Given the description of an element on the screen output the (x, y) to click on. 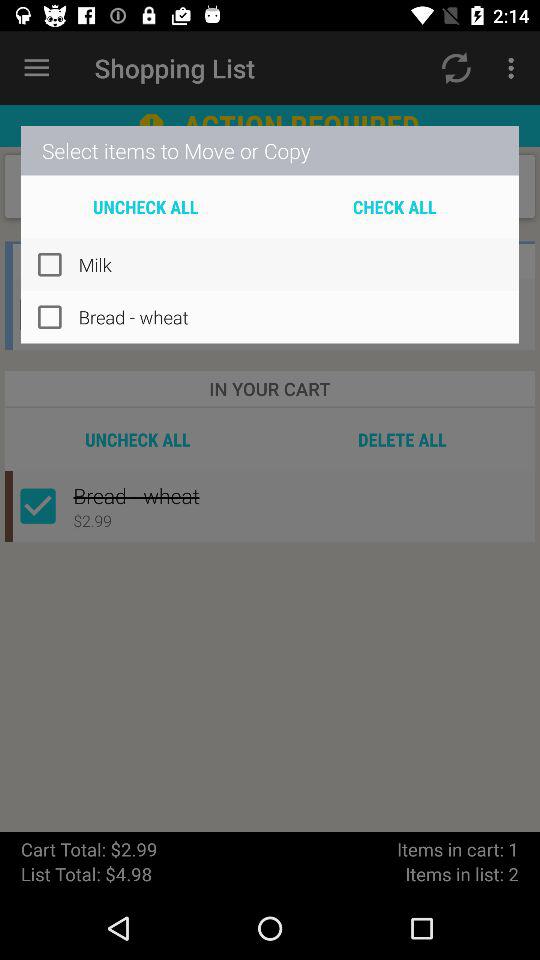
turn off item below the select items to (145, 206)
